Given the description of an element on the screen output the (x, y) to click on. 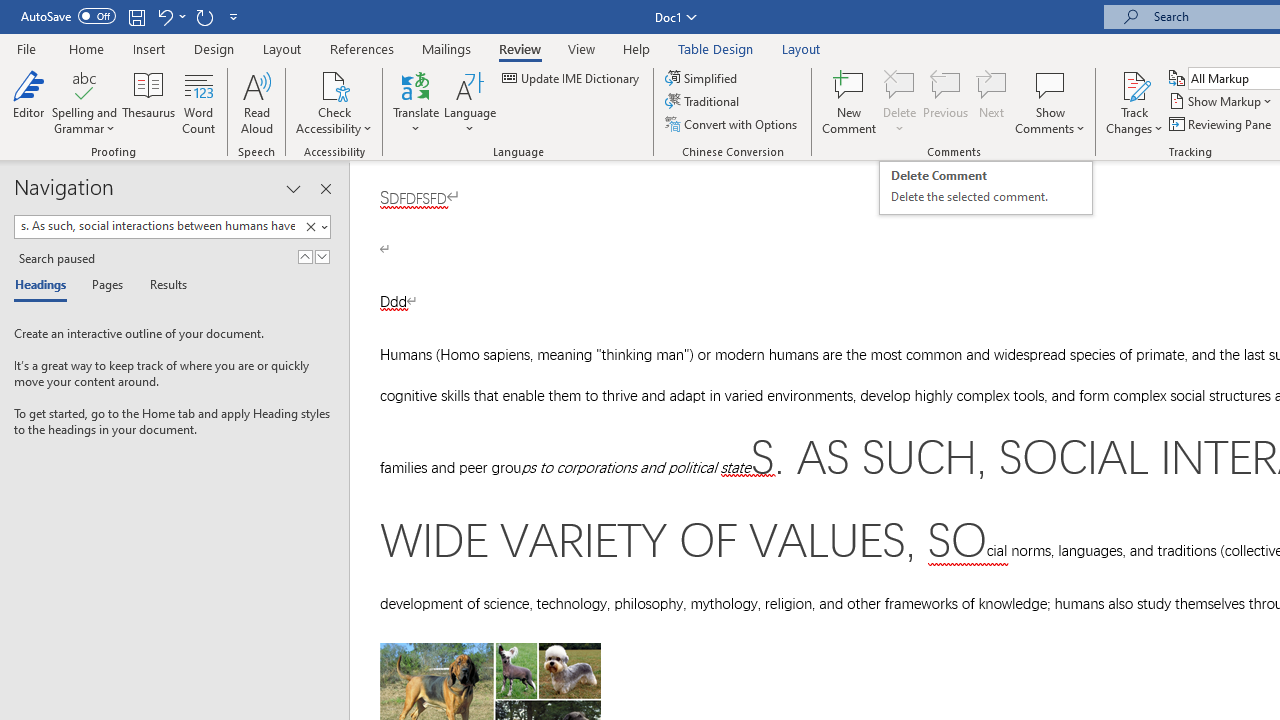
Check Accessibility (334, 102)
Previous (946, 102)
Track Changes (1134, 84)
Undo Style (164, 15)
Track Changes (1134, 102)
Read Aloud (256, 102)
Thesaurus... (148, 102)
New Comment (849, 102)
Translate (415, 102)
Search document (157, 226)
Next (991, 102)
